Given the description of an element on the screen output the (x, y) to click on. 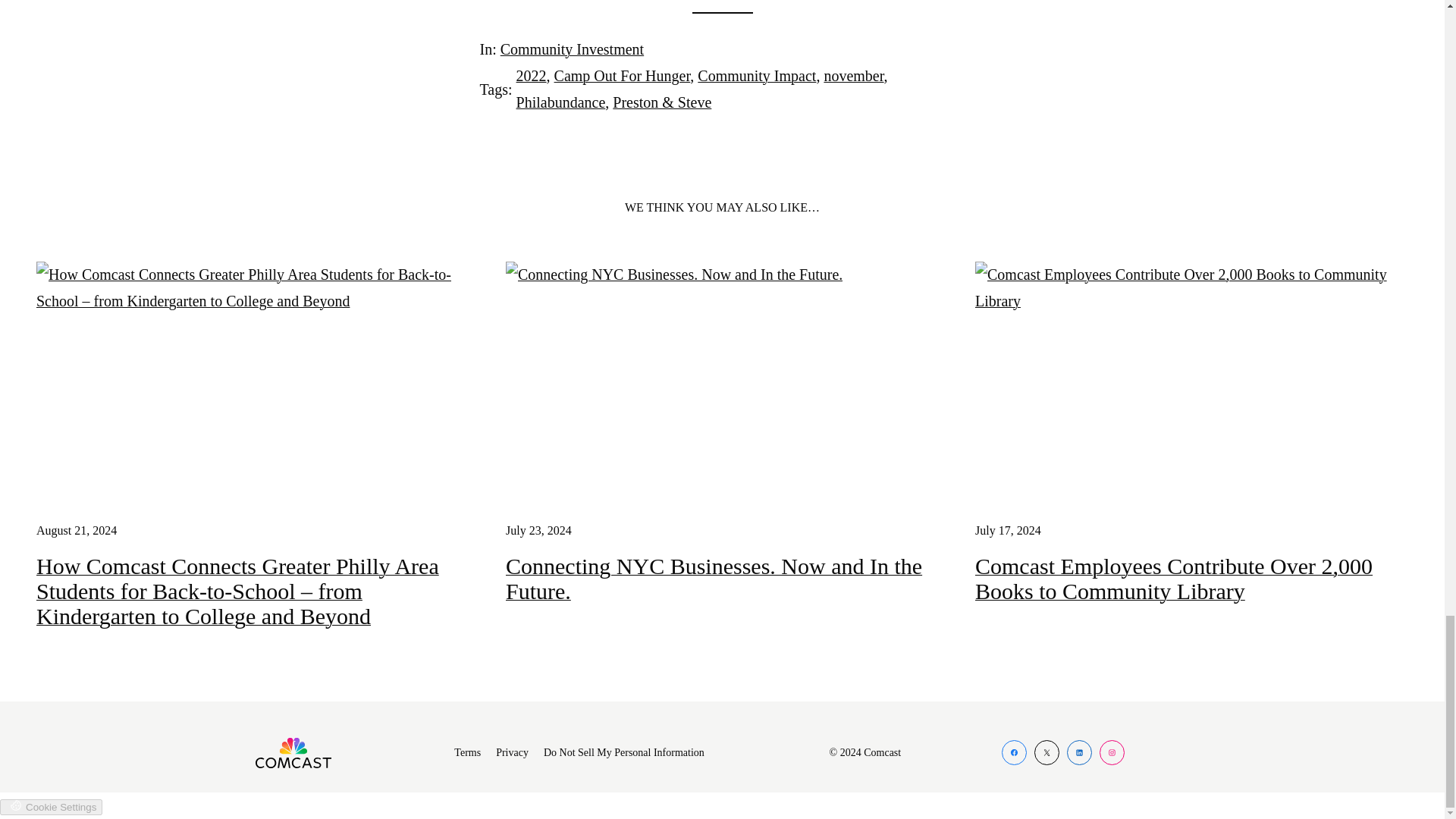
Community Investment (571, 48)
Philabundance (560, 102)
november (853, 75)
Camp Out For Hunger (622, 75)
Connecting NYC Businesses. Now and In the Future. (722, 578)
Community Impact (756, 75)
2022 (531, 75)
